Given the description of an element on the screen output the (x, y) to click on. 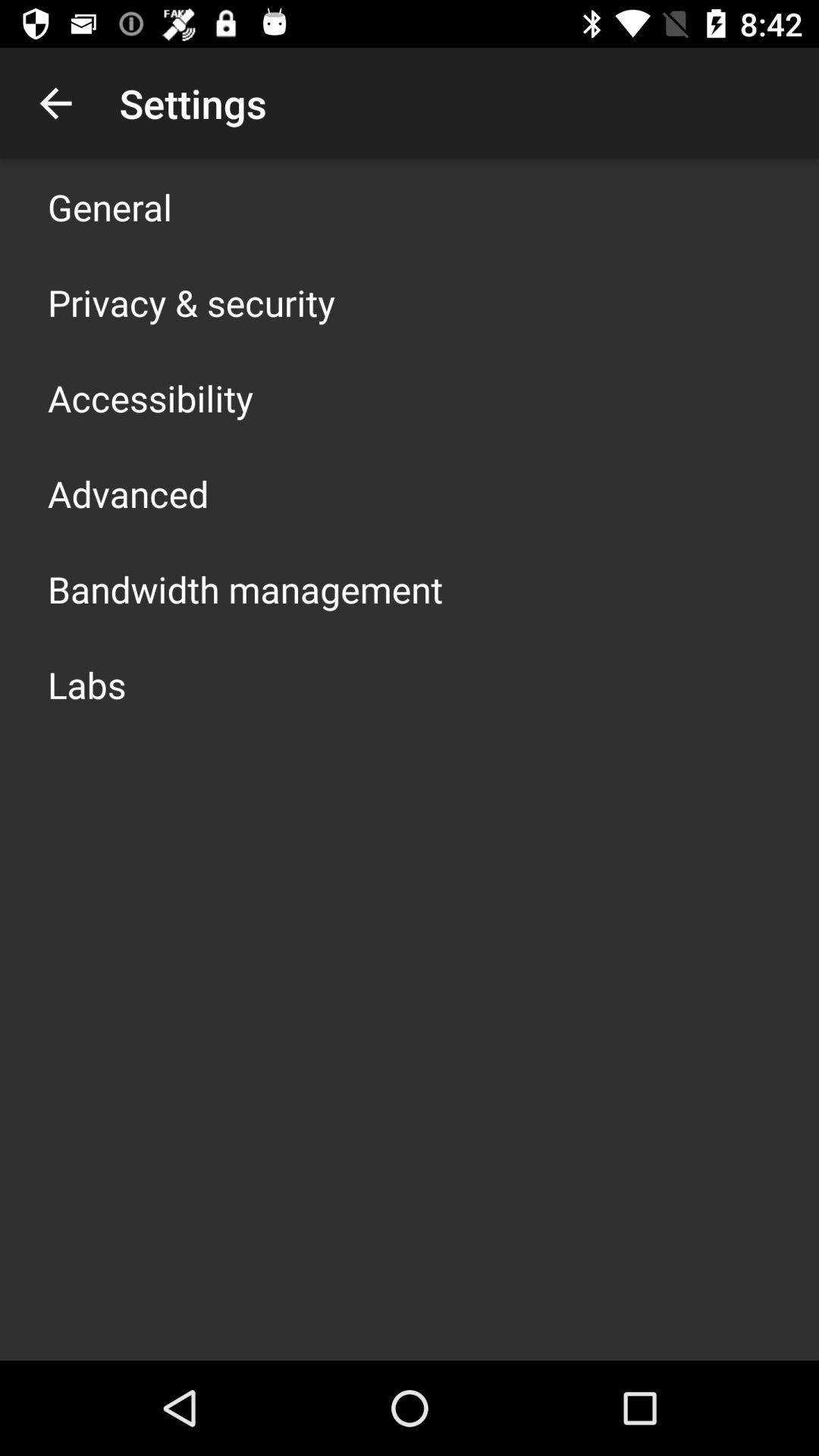
select app below general item (190, 302)
